Given the description of an element on the screen output the (x, y) to click on. 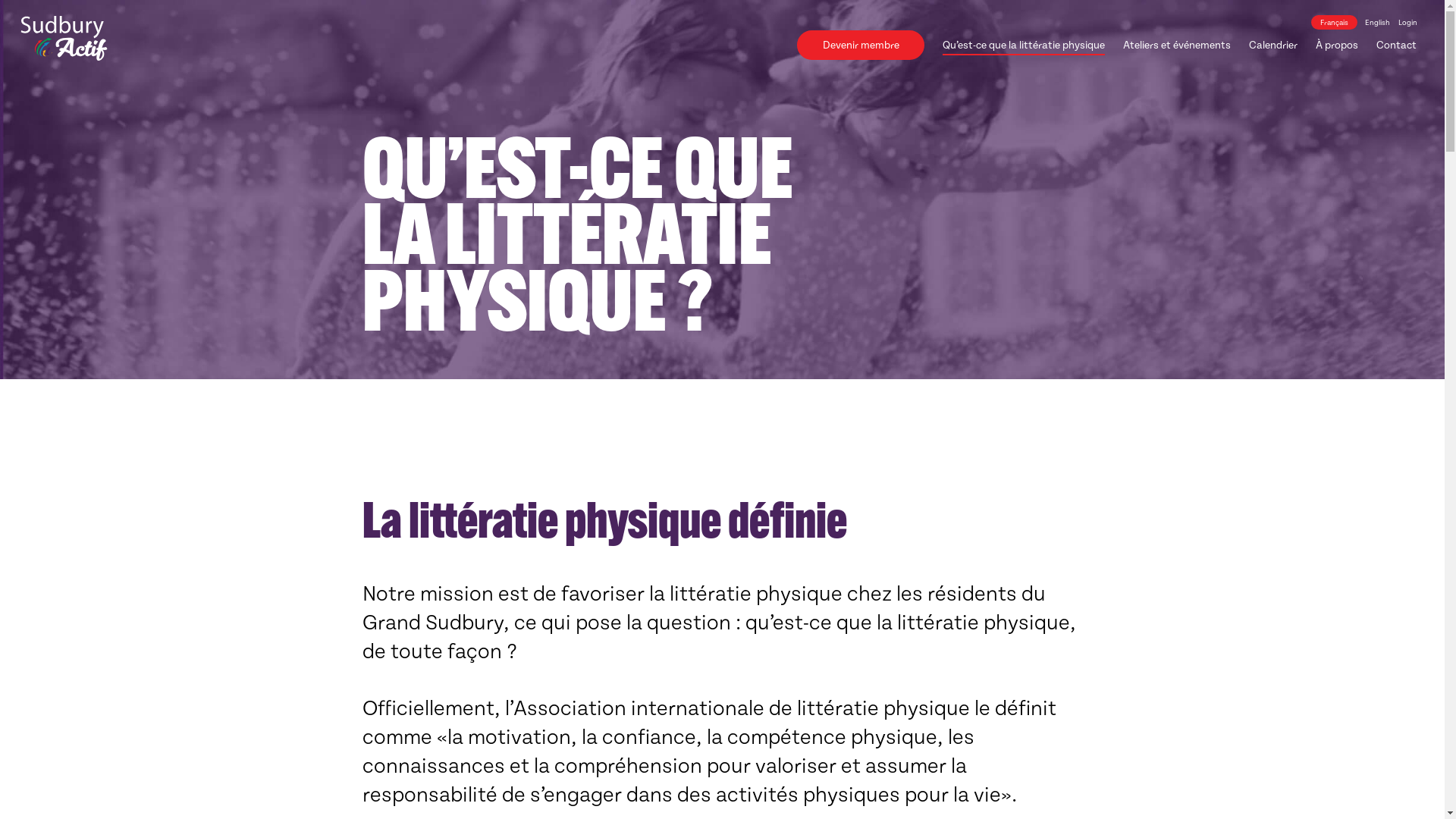
Calendrier Element type: text (1272, 45)
Contact Element type: text (1396, 45)
Login Element type: text (1407, 22)
Devenir membre Element type: text (860, 44)
English Element type: text (1377, 22)
